Given the description of an element on the screen output the (x, y) to click on. 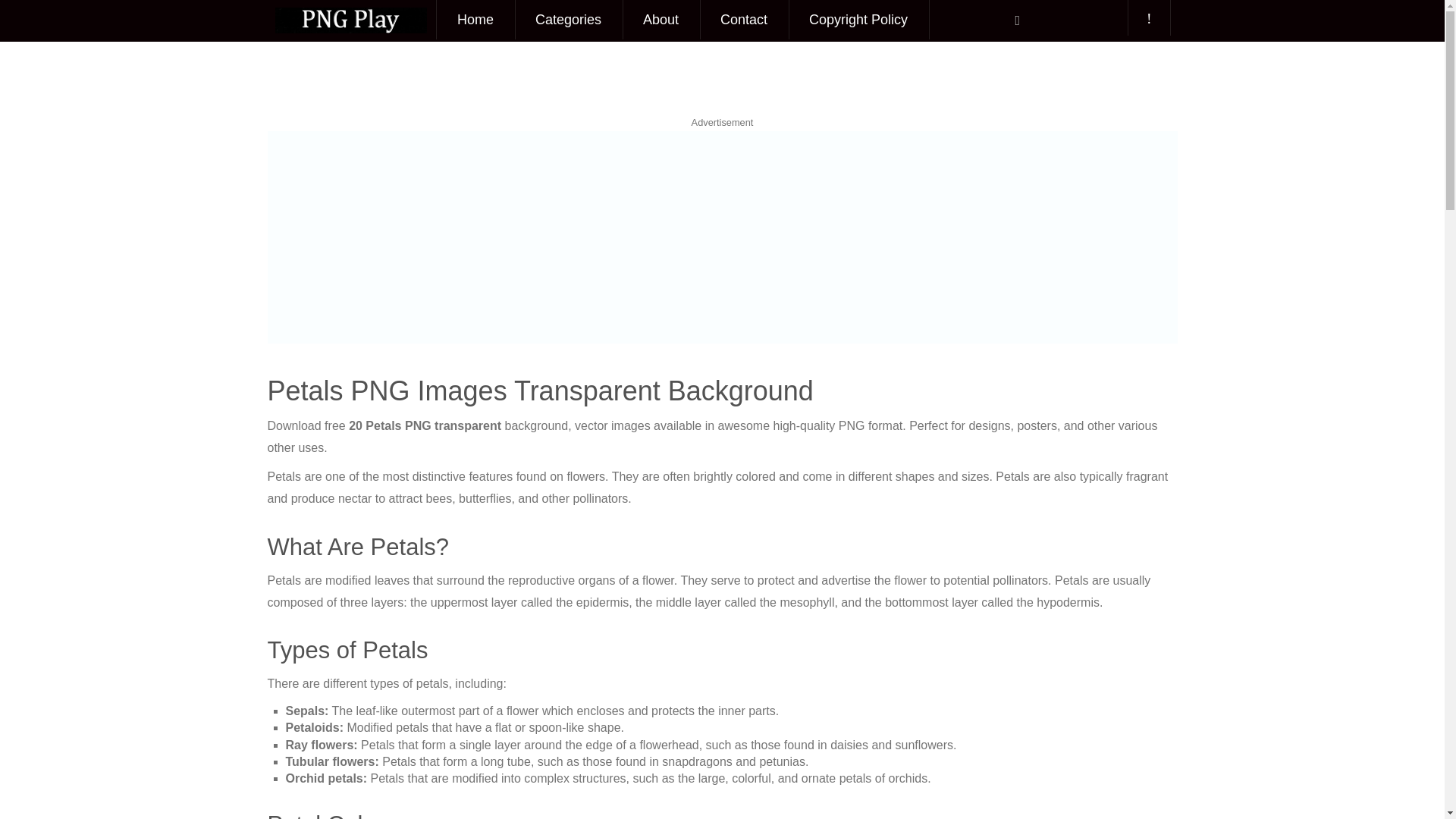
About (660, 19)
Home (474, 19)
Categories (568, 19)
Contact (743, 19)
Copyright Policy (858, 19)
